Given the description of an element on the screen output the (x, y) to click on. 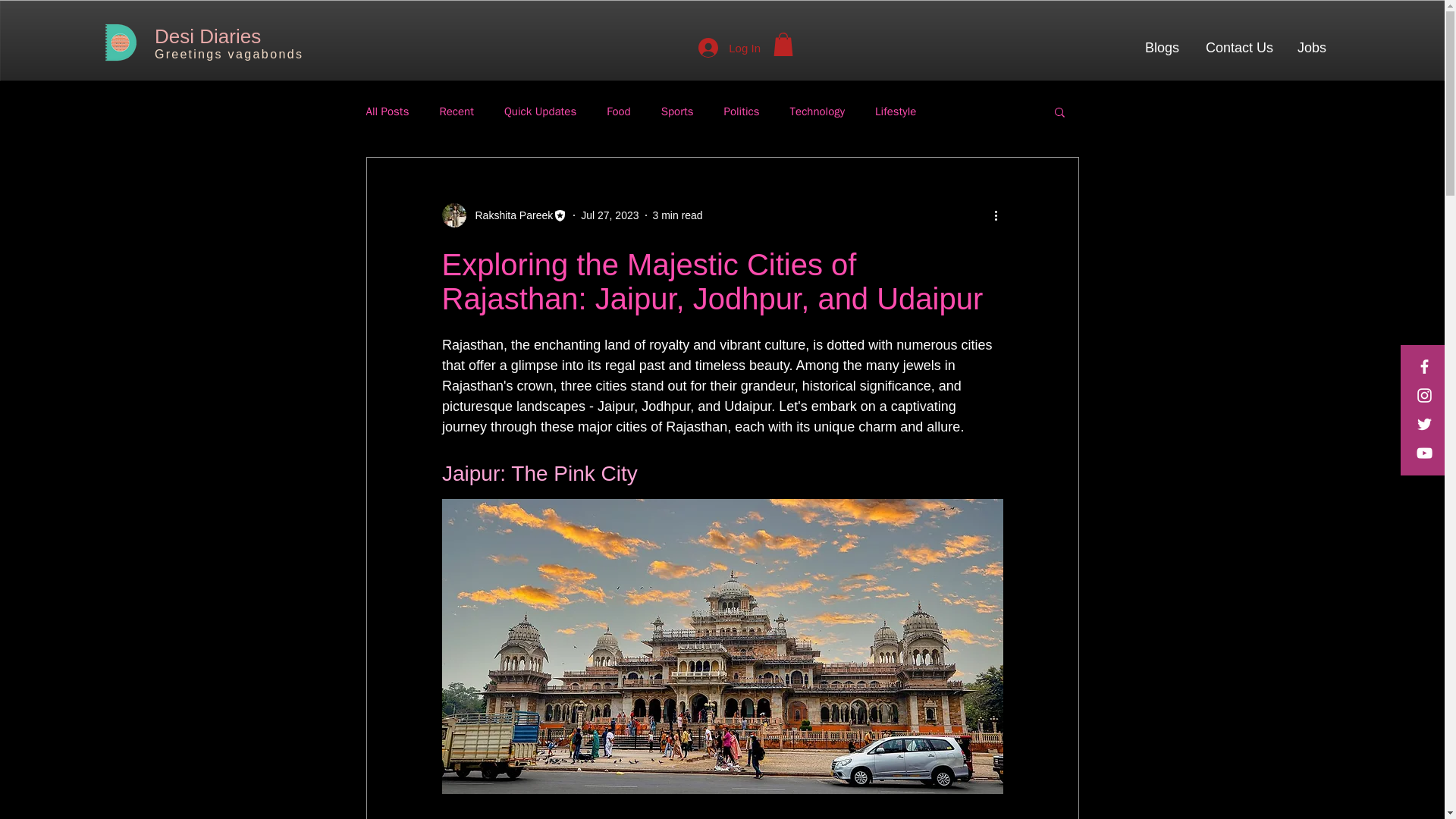
Lifestyle (895, 111)
Greetings vagabonds (228, 53)
All Posts (387, 111)
Rakshita Pareek (509, 215)
Log In (729, 47)
3 min read (677, 215)
Recent (456, 111)
Technology (817, 111)
Politics (741, 111)
Contact Us (1237, 47)
Rakshita Pareek (504, 215)
Jobs (1311, 47)
Quick Updates (539, 111)
Jul 27, 2023 (609, 215)
Food (618, 111)
